Given the description of an element on the screen output the (x, y) to click on. 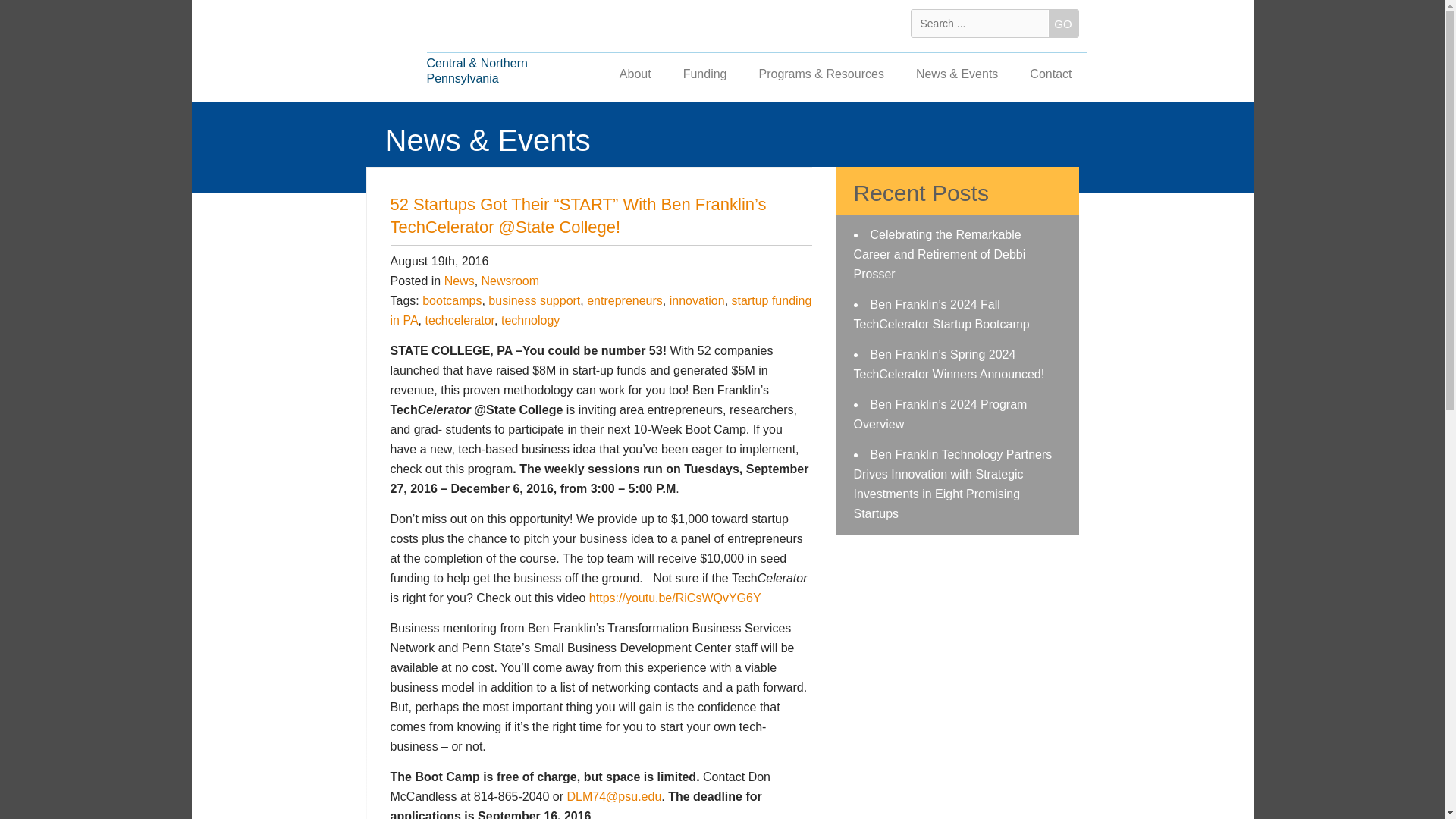
Funding (704, 76)
GO (1062, 22)
Twitter (845, 24)
Contact (1050, 76)
About (635, 76)
GO (1062, 22)
GO (1062, 22)
News (459, 280)
